Given the description of an element on the screen output the (x, y) to click on. 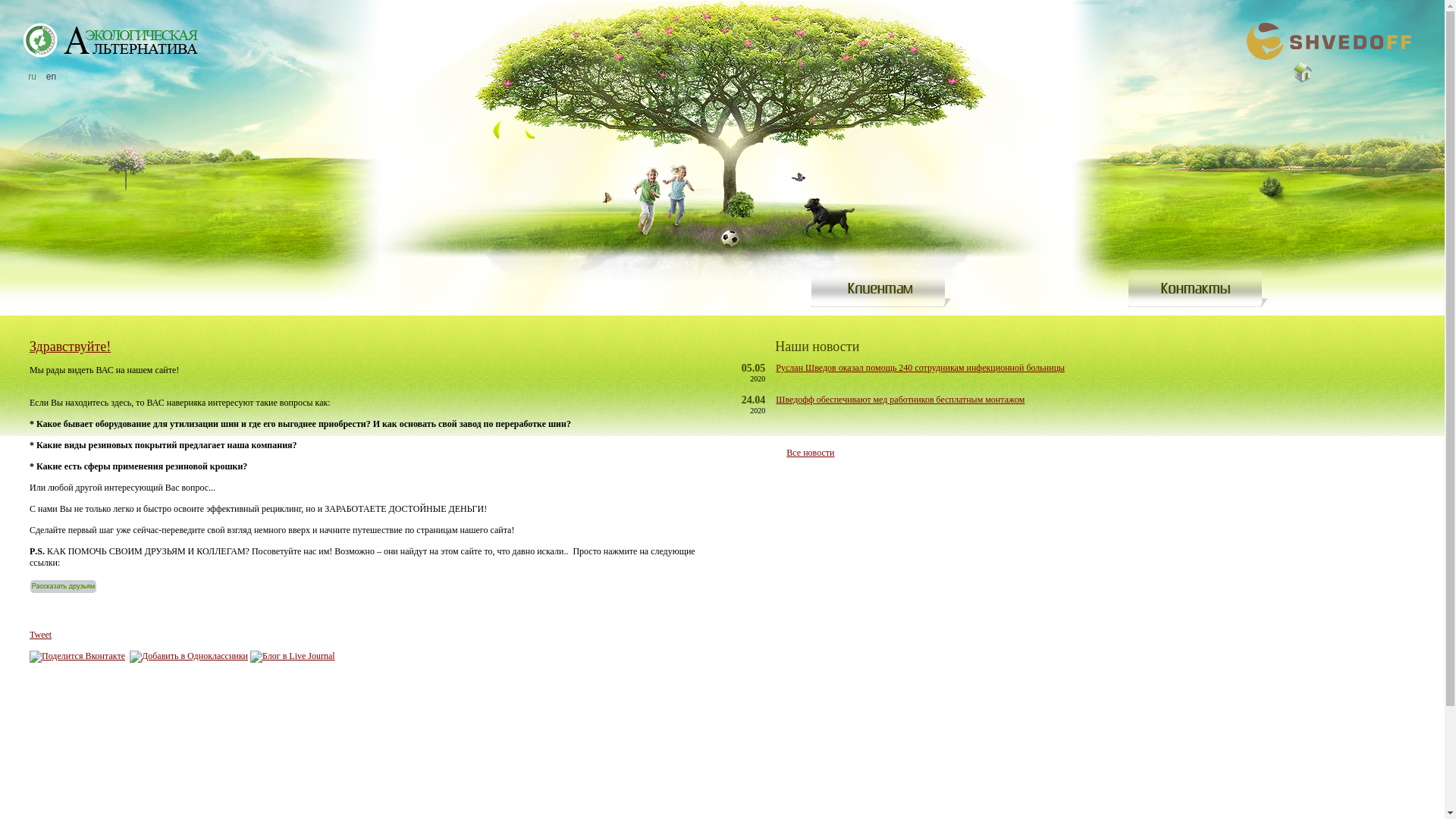
en Element type: text (50, 77)
Tweet Element type: text (40, 634)
Tell a Friend Element type: hover (63, 590)
